Given the description of an element on the screen output the (x, y) to click on. 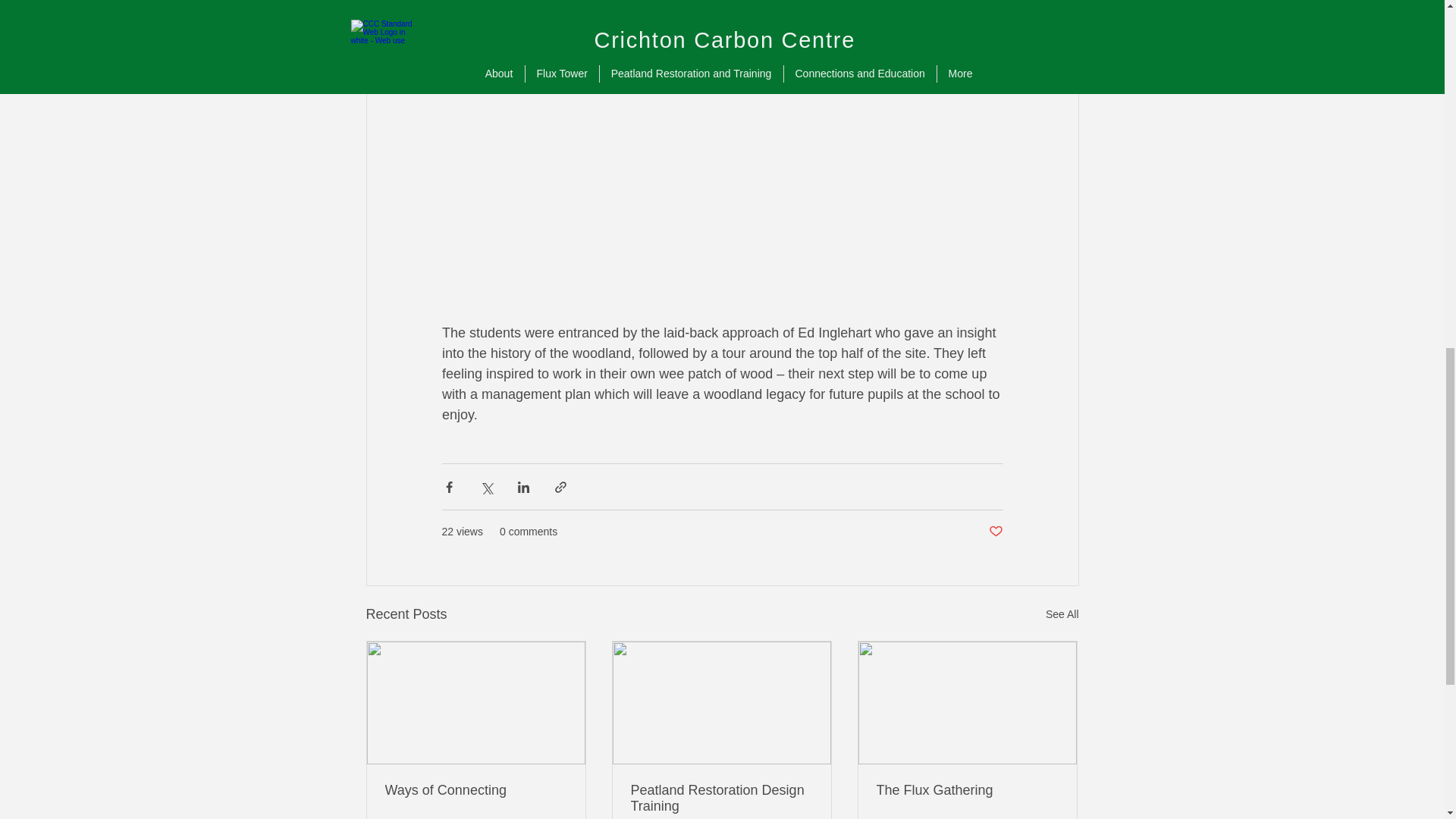
Post not marked as liked (995, 531)
Peatland Restoration Design Training (721, 798)
Ways of Connecting (476, 790)
The Flux Gathering  (967, 790)
See All (1061, 614)
